Given the description of an element on the screen output the (x, y) to click on. 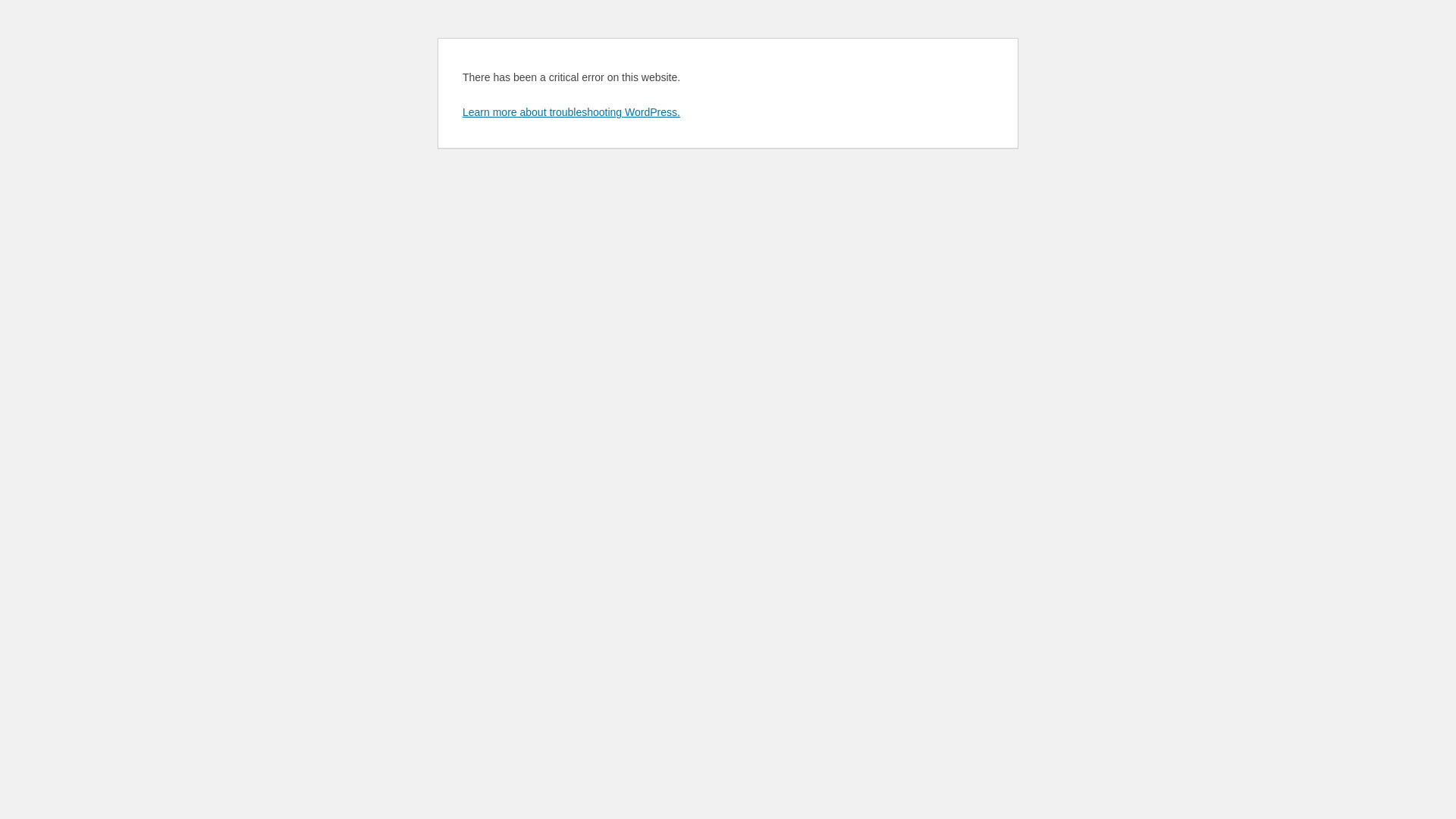
Learn more about troubleshooting WordPress. Element type: text (571, 112)
